Given the description of an element on the screen output the (x, y) to click on. 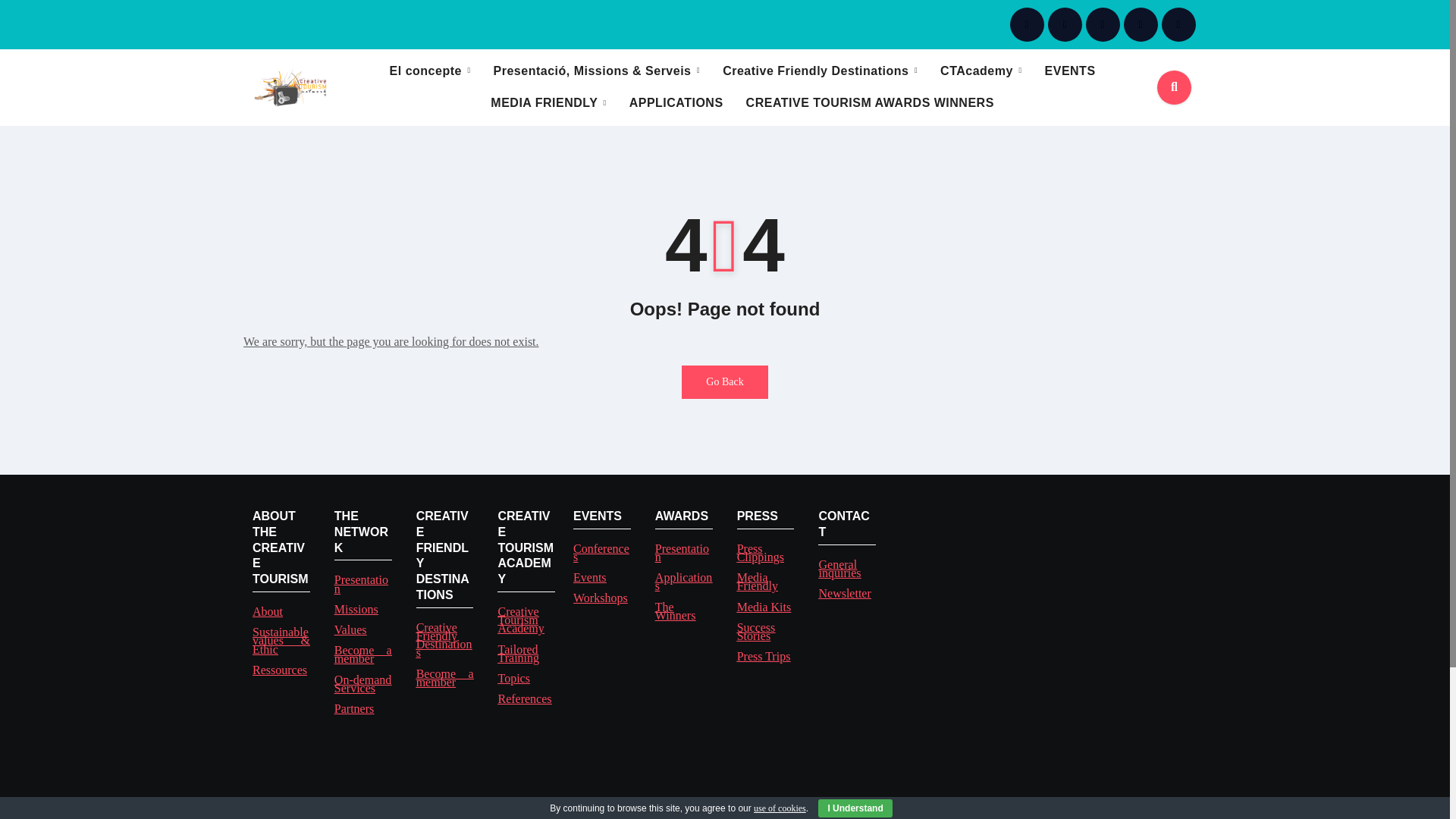
EVENTS (1069, 70)
Creative Friendly Destinations (819, 70)
Creative Friendly Destinations (819, 70)
CTAcademy (980, 70)
CREATIVE TOURISM AWARDS WINNERS (870, 102)
El concepte (429, 70)
MEDIA FRIENDLY (548, 102)
About (266, 611)
CTAcademy (980, 70)
Go Back (724, 381)
